Given the description of an element on the screen output the (x, y) to click on. 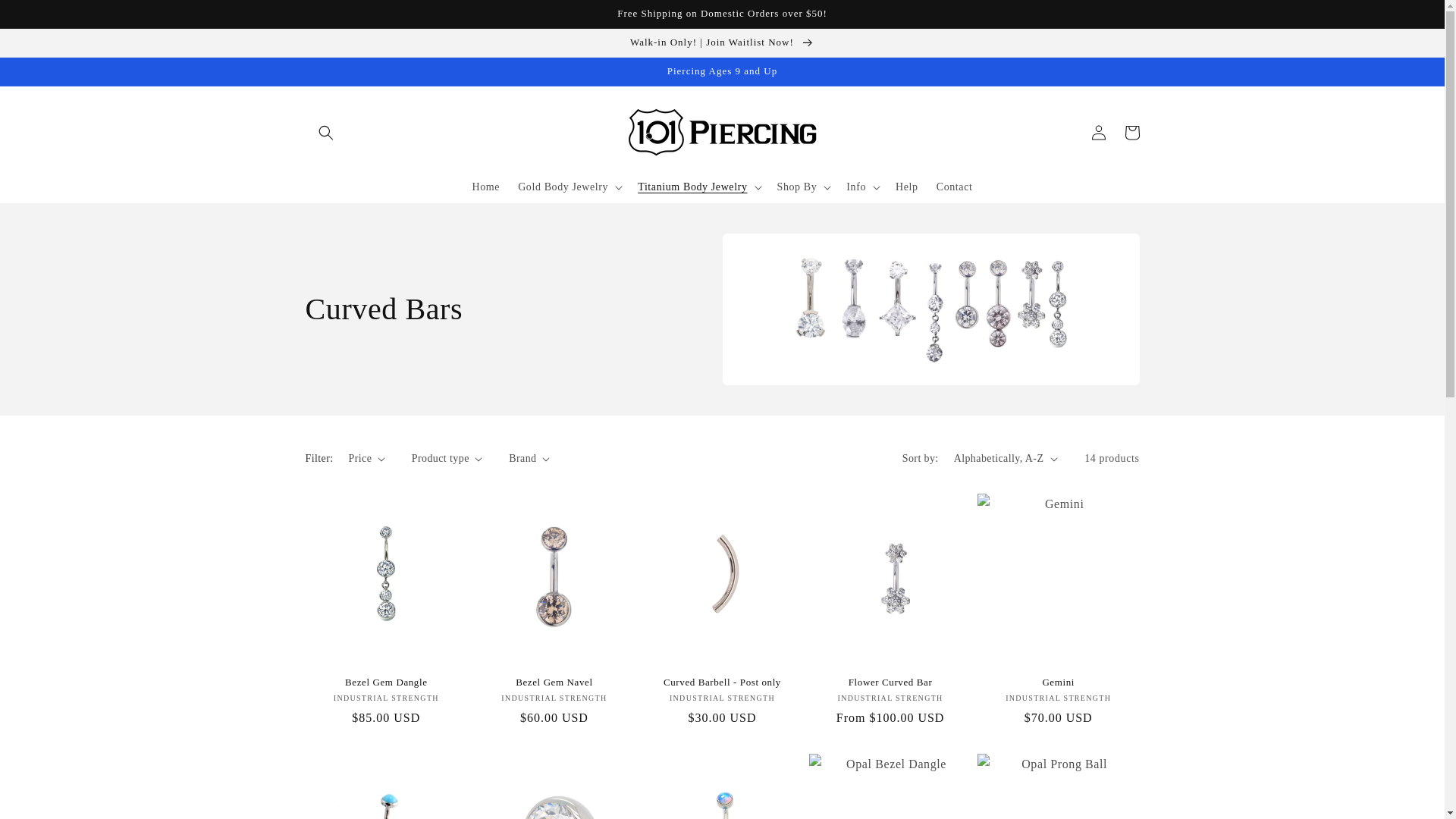
Cart Element type: text (1131, 132)
Log in Element type: text (1097, 132)
Gemini Element type: text (1058, 682)
Bezel Gem Navel Element type: text (554, 682)
Home Element type: text (486, 187)
Walk-in Only! | Join Waitlist Now! Element type: text (722, 42)
Flower Curved Bar Element type: text (890, 682)
Bezel Gem Dangle Element type: text (385, 682)
Help Element type: text (906, 187)
Curved Barbell - Post only Element type: text (722, 682)
Contact Element type: text (954, 187)
